Given the description of an element on the screen output the (x, y) to click on. 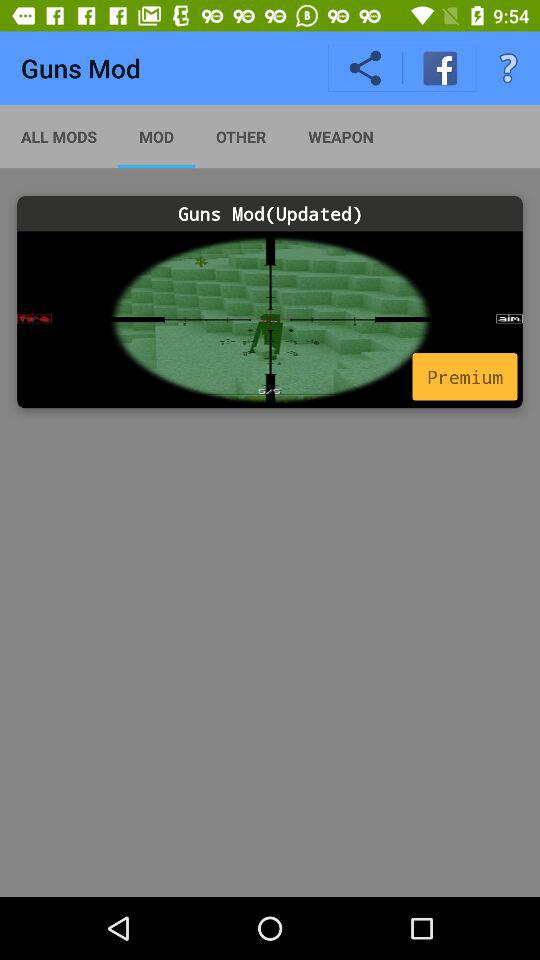
press the app to the right of mod item (240, 136)
